Given the description of an element on the screen output the (x, y) to click on. 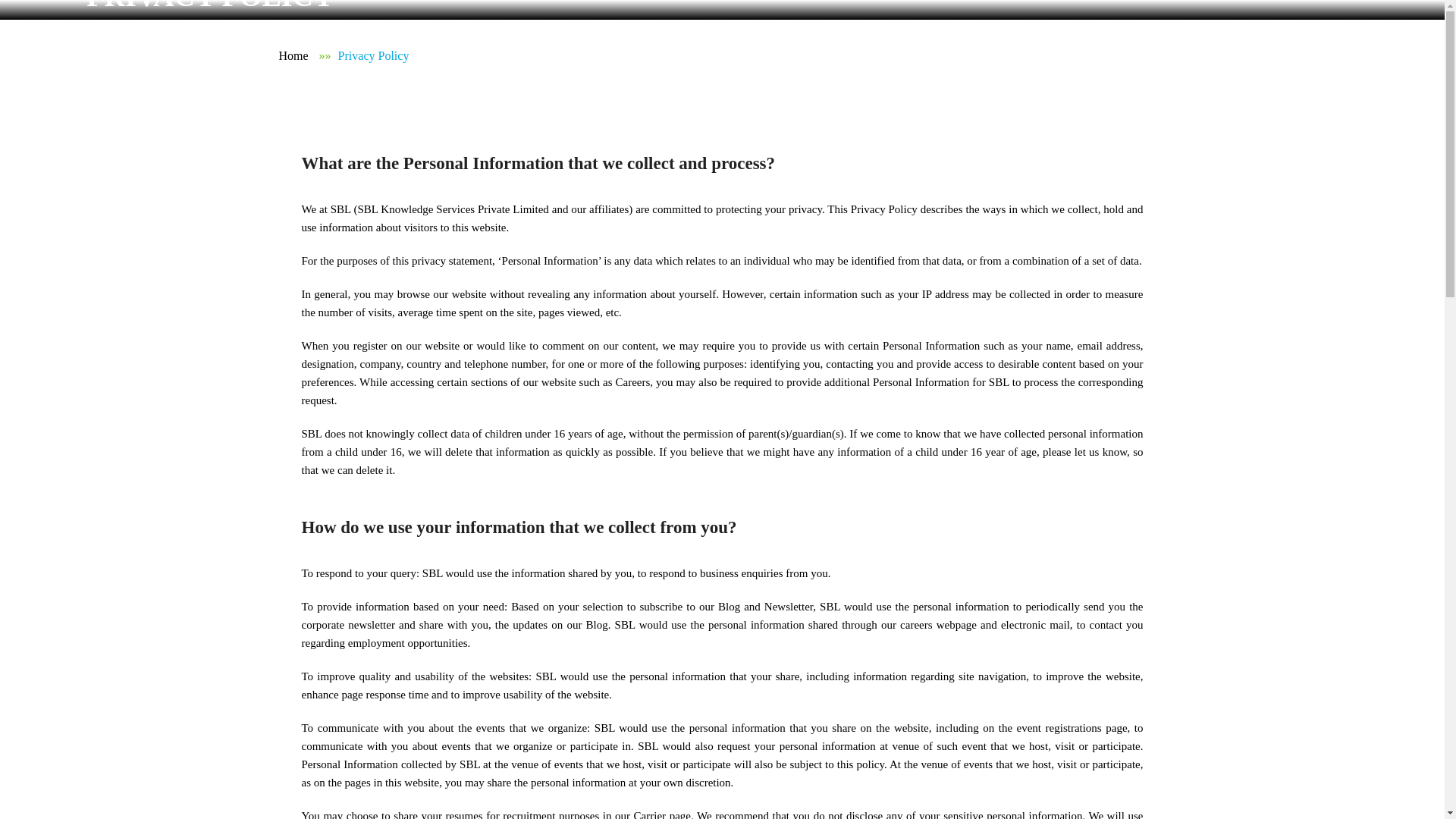
Career (914, 49)
Home (293, 55)
Services (595, 49)
Insights (846, 49)
Company (510, 49)
Products (766, 49)
Contact Us (1254, 56)
Industries (681, 49)
